Given the description of an element on the screen output the (x, y) to click on. 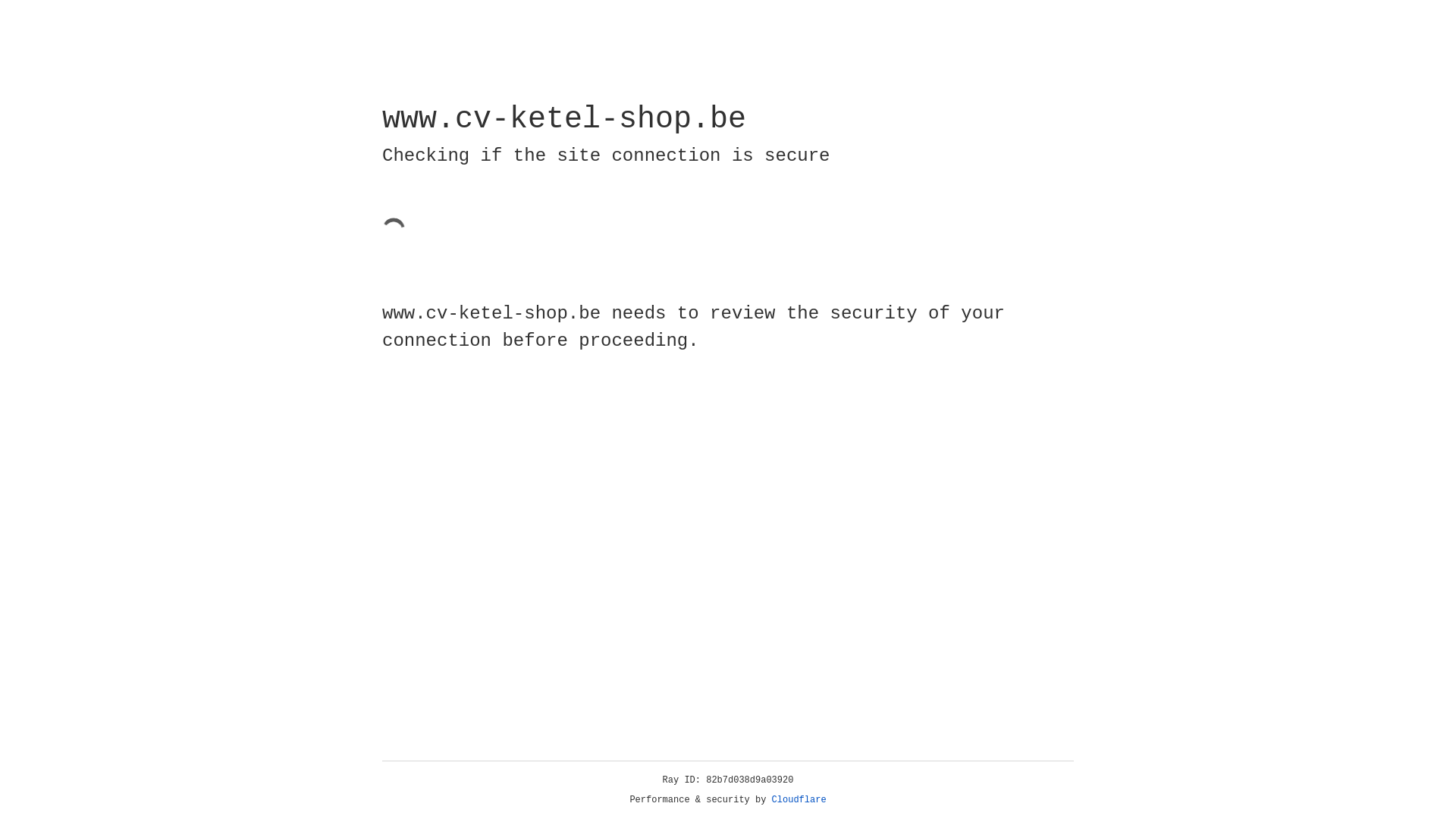
Cloudflare Element type: text (798, 799)
